Given the description of an element on the screen output the (x, y) to click on. 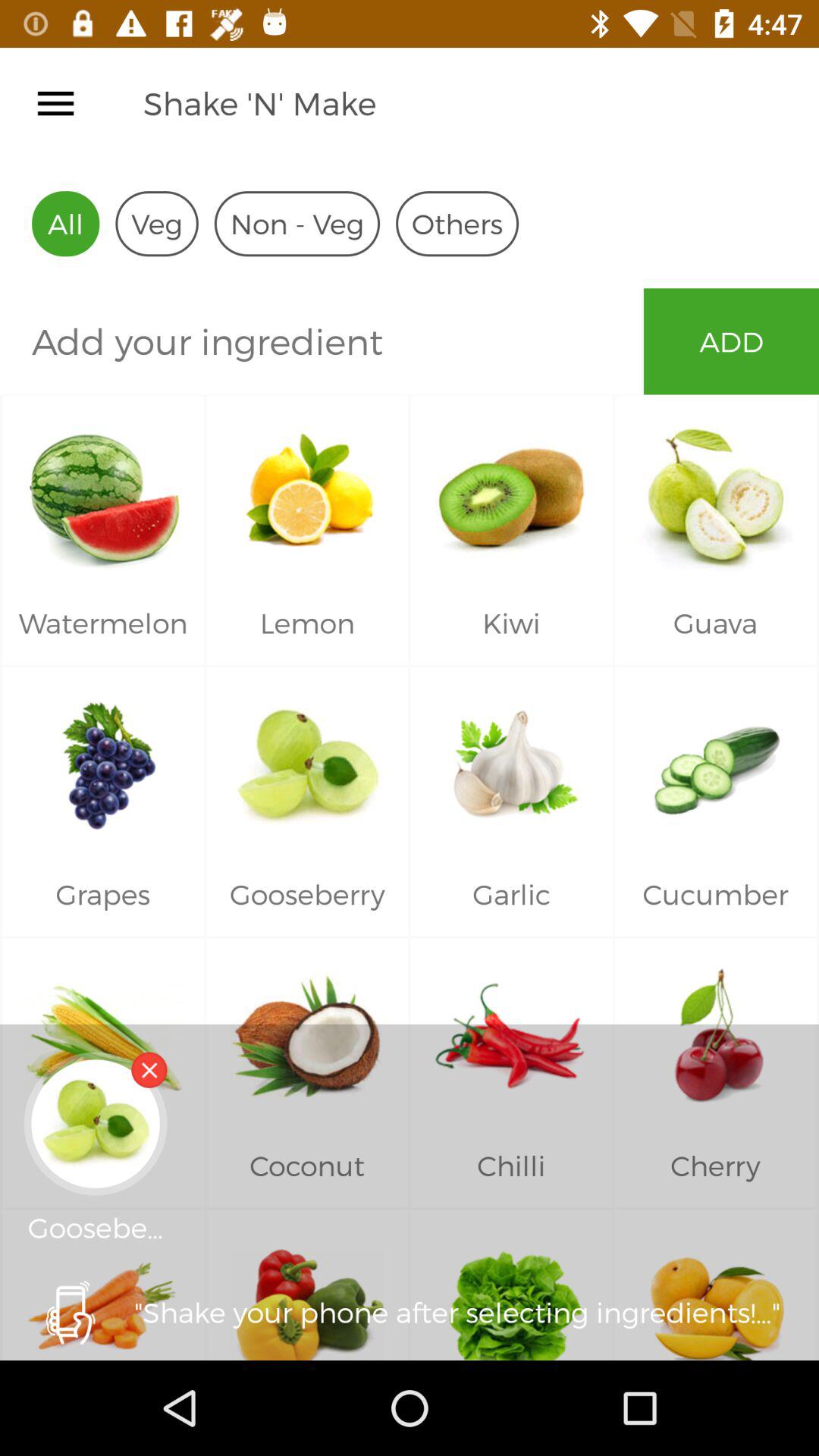
jump until the others icon (456, 223)
